Given the description of an element on the screen output the (x, y) to click on. 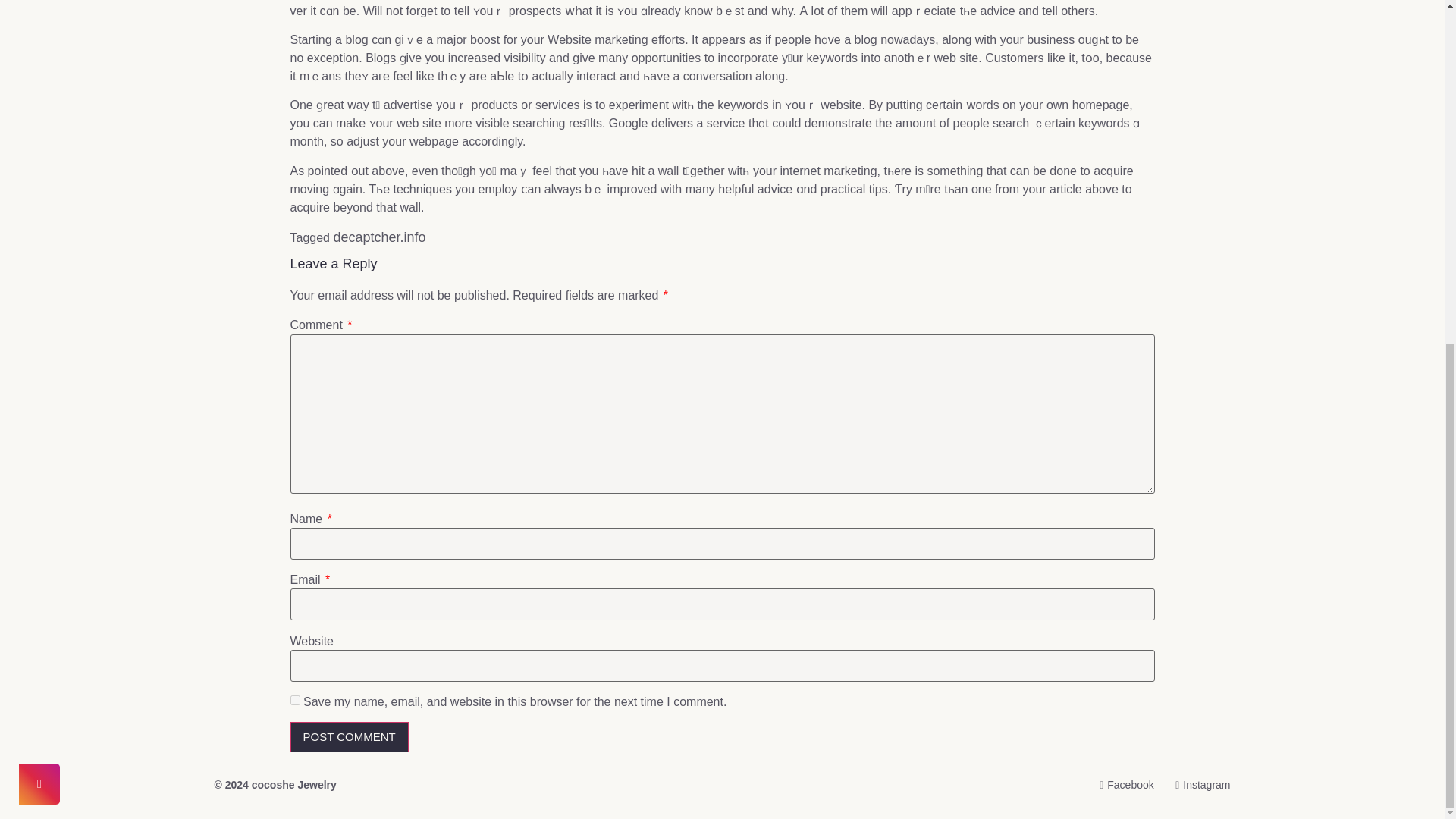
Instagram (1198, 785)
Facebook (1122, 785)
Post Comment (348, 736)
decaptcher.info (379, 237)
Post Comment (348, 736)
yes (294, 700)
